Given the description of an element on the screen output the (x, y) to click on. 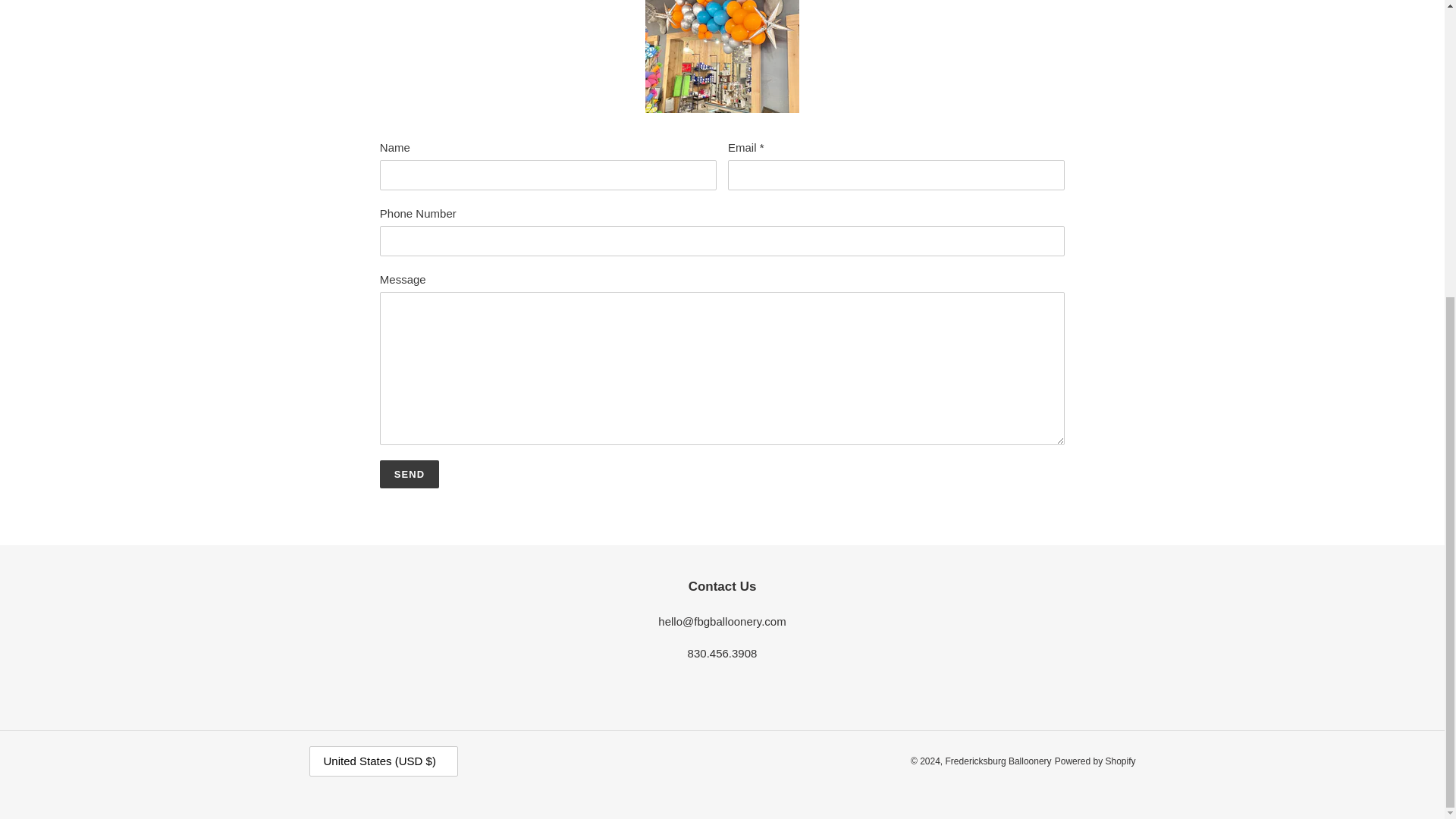
Send (409, 474)
Send (409, 474)
